Given the description of an element on the screen output the (x, y) to click on. 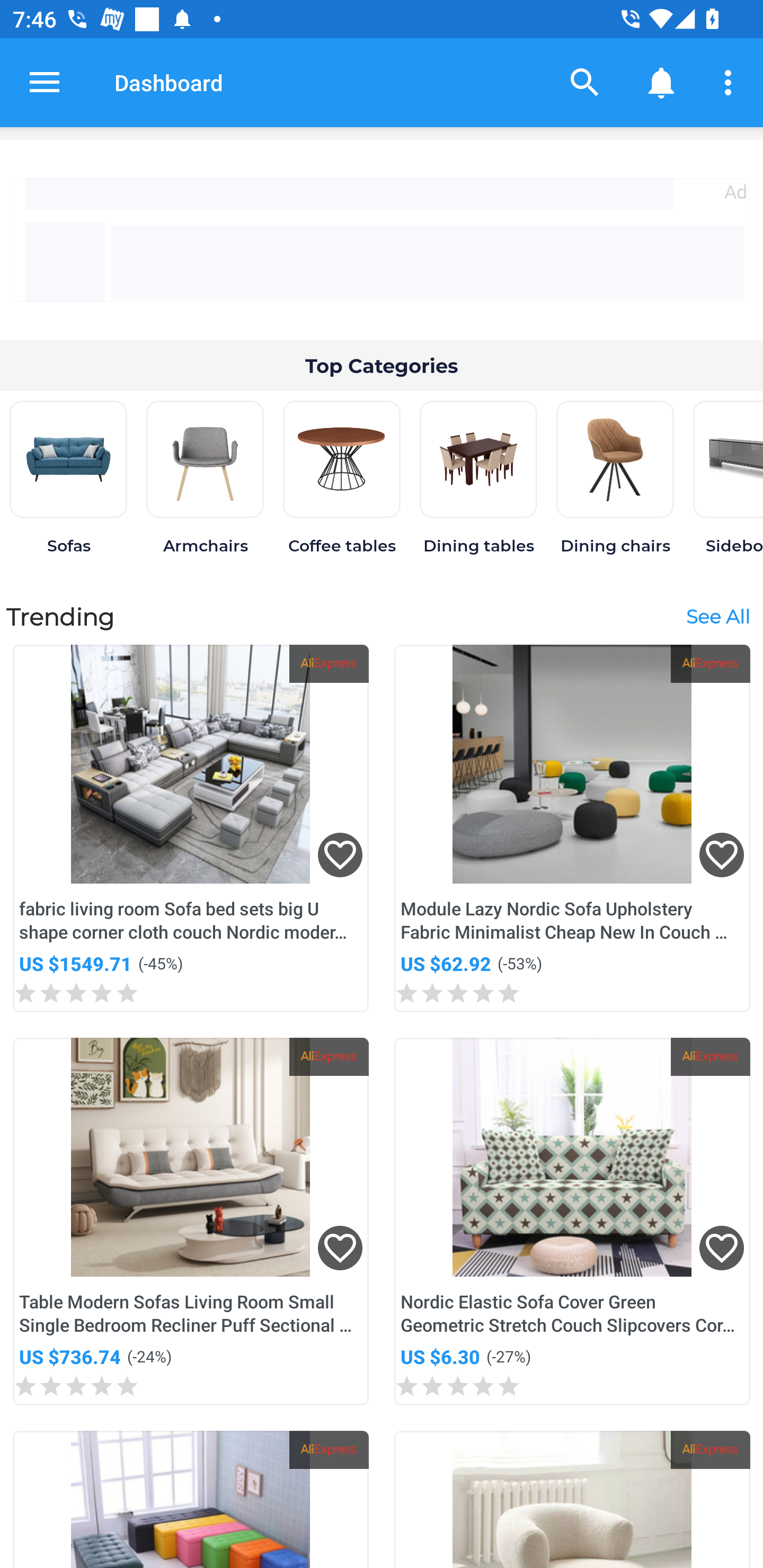
Open navigation drawer (44, 82)
Search (585, 81)
More options (731, 81)
See All (717, 615)
